Given the description of an element on the screen output the (x, y) to click on. 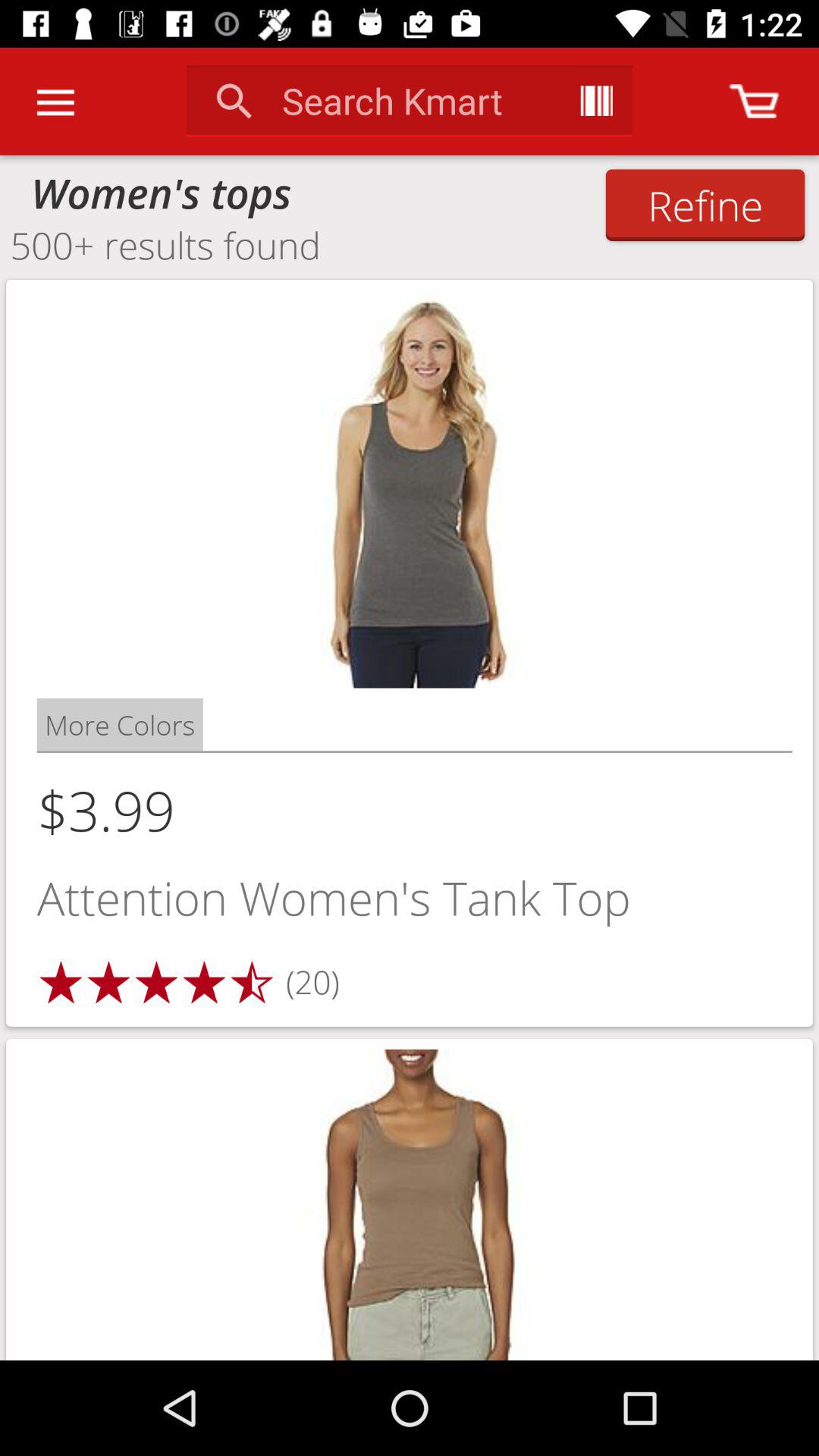
click the item next to  women's tops (704, 205)
